Given the description of an element on the screen output the (x, y) to click on. 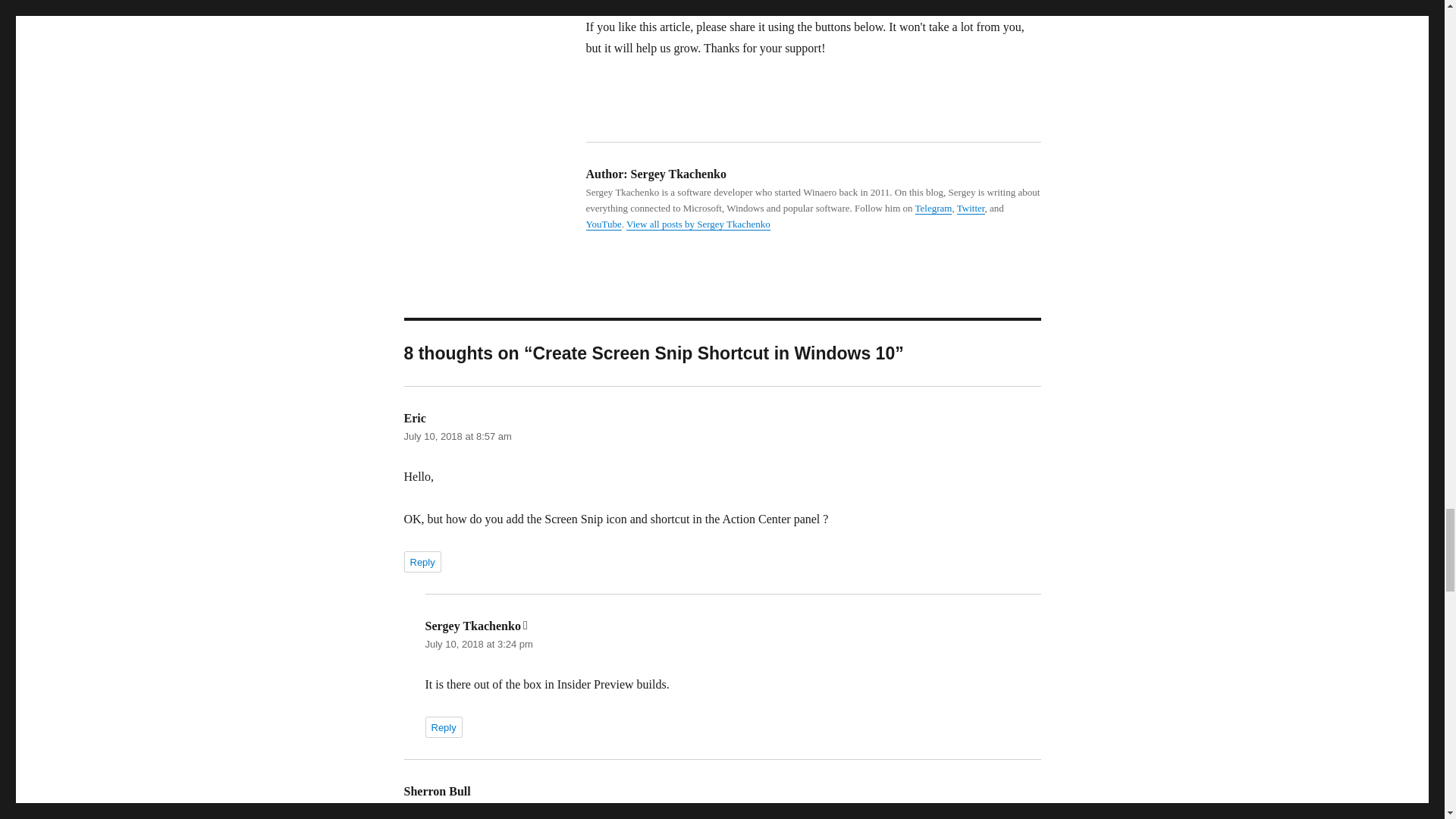
View all posts by Sergey Tkachenko (698, 224)
September 30, 2018 at 7:50 am (472, 808)
Telegram (933, 207)
July 10, 2018 at 8:57 am (457, 436)
Reply (443, 726)
July 10, 2018 at 3:24 pm (478, 644)
YouTube (603, 224)
Twitter (970, 207)
Reply (422, 561)
